Given the description of an element on the screen output the (x, y) to click on. 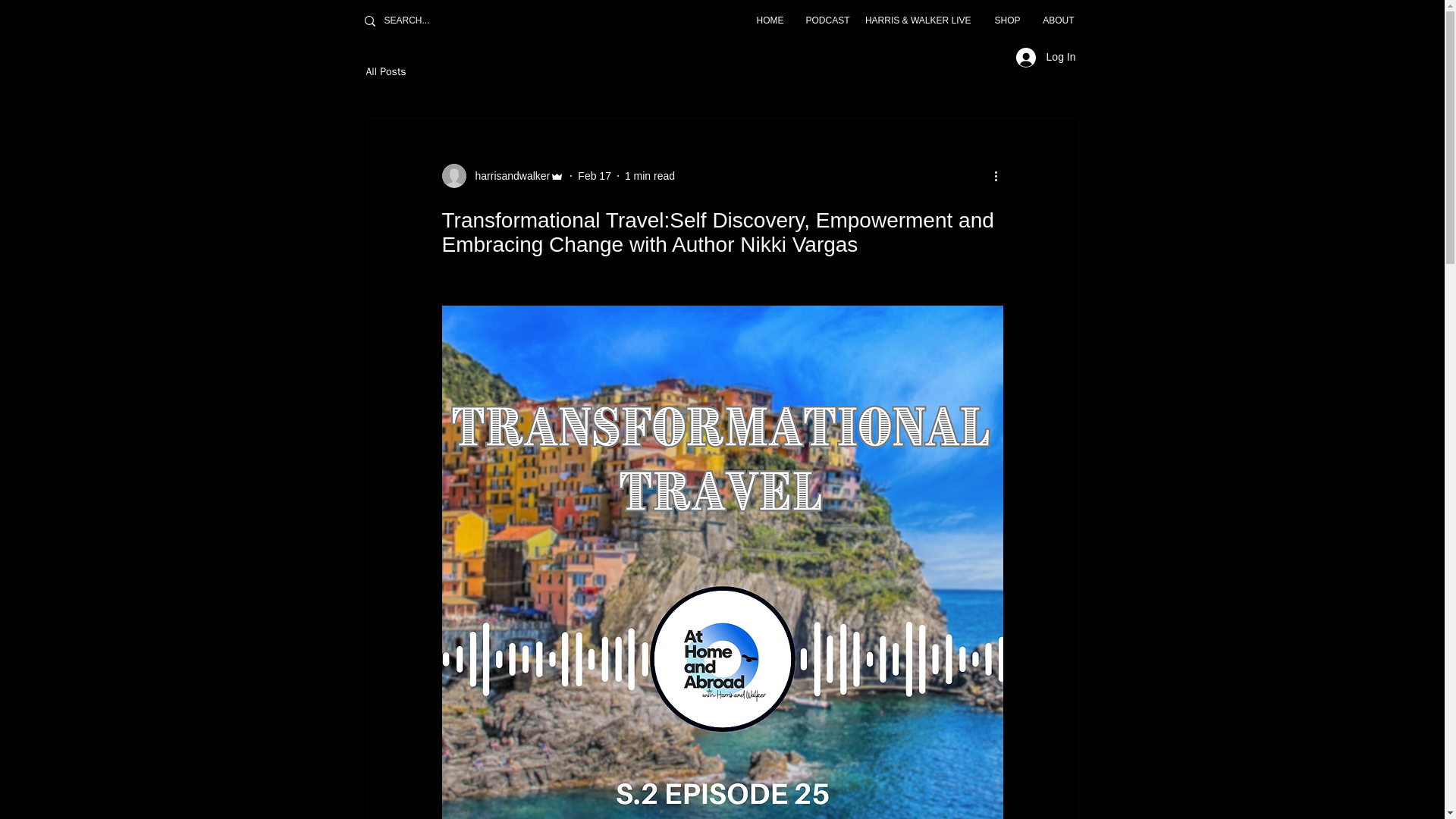
All Posts (385, 71)
ABOUT (1054, 20)
SHOP (1002, 20)
1 min read (649, 175)
HOME (764, 20)
Log In (1046, 57)
harrisandwalker (502, 175)
PODCAST (824, 20)
Feb 17 (594, 175)
harrisandwalker (507, 176)
